Given the description of an element on the screen output the (x, y) to click on. 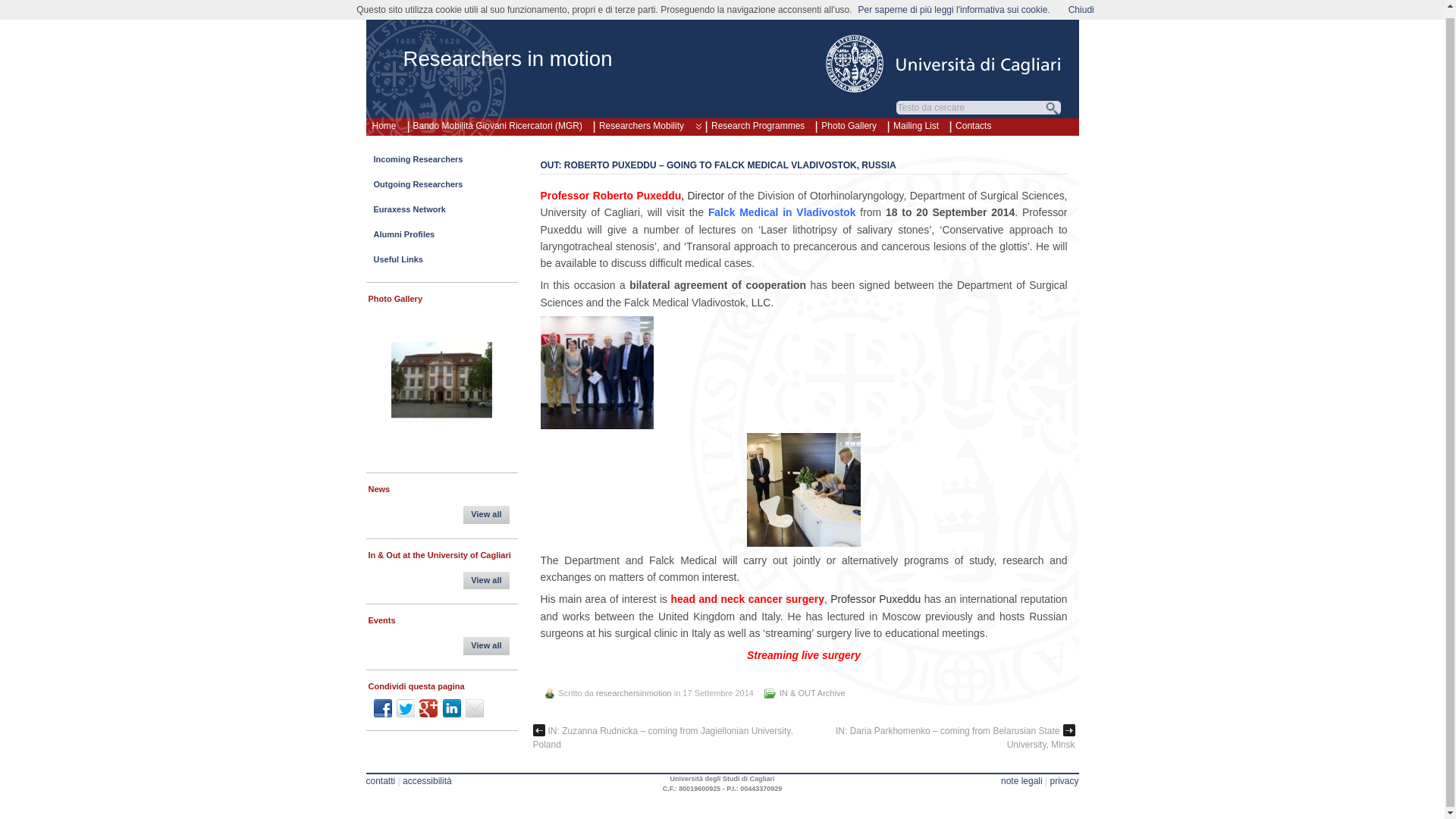
uffici e personale: cerca i recapiti nella rubrica online (923, 10)
Home (383, 123)
Mailing List (915, 123)
Useful Links (440, 263)
webmail (955, 10)
Contacts (973, 123)
Falck Medical in Vladivostok (781, 212)
Photo Gallery (848, 123)
studenti (990, 10)
Testo da cercare (971, 107)
servizi online agli studenti (990, 10)
Streaming live surgery  (804, 654)
Researchers in motion (507, 58)
Euraxess Network (440, 213)
